Given the description of an element on the screen output the (x, y) to click on. 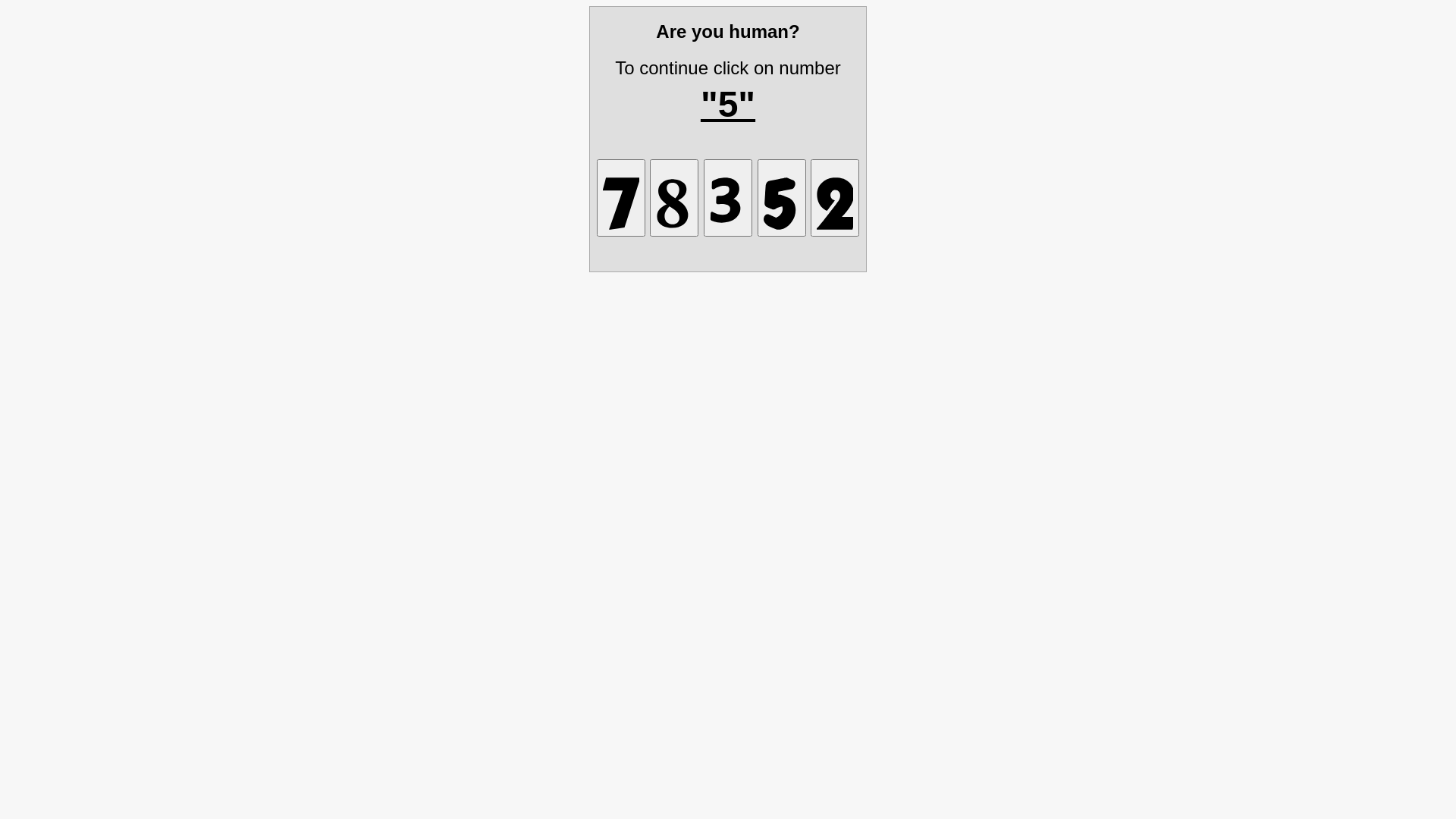
1732440132892424 Element type: text (834, 197)
1732440132331121 Element type: text (727, 197)
1732440132891174 Element type: text (620, 197)
1732440132366331 Element type: text (781, 197)
1732440132185050 Element type: text (673, 197)
